Given the description of an element on the screen output the (x, y) to click on. 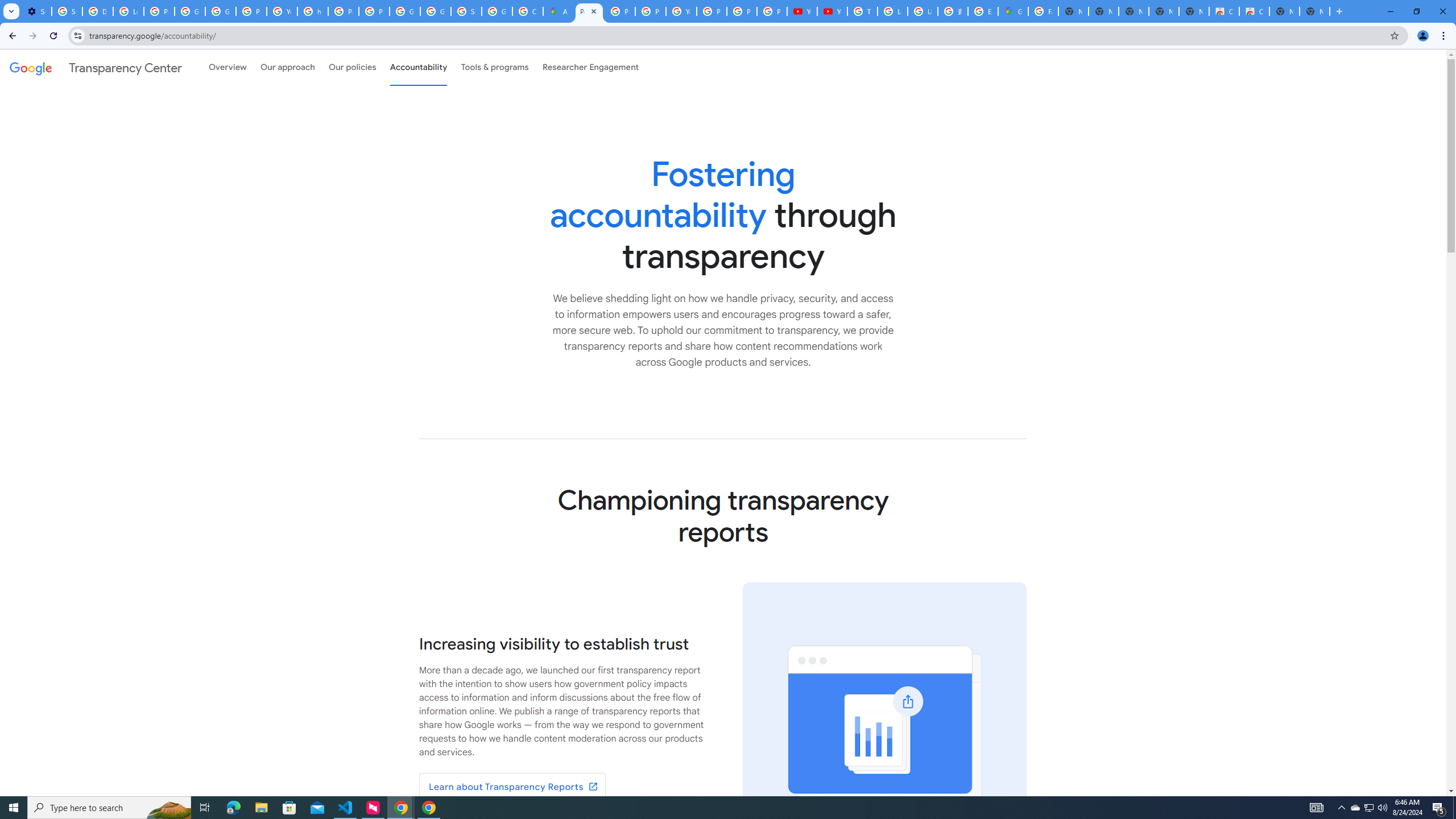
Learn how to find your photos - Google Photos Help (127, 11)
Transparency Center (95, 67)
Privacy Checkup (771, 11)
Explore new street-level details - Google Maps Help (982, 11)
Sign in - Google Accounts (66, 11)
Classic Blue - Chrome Web Store (1254, 11)
Delete photos & videos - Computer - Google Photos Help (97, 11)
Google Account Help (189, 11)
